Given the description of an element on the screen output the (x, y) to click on. 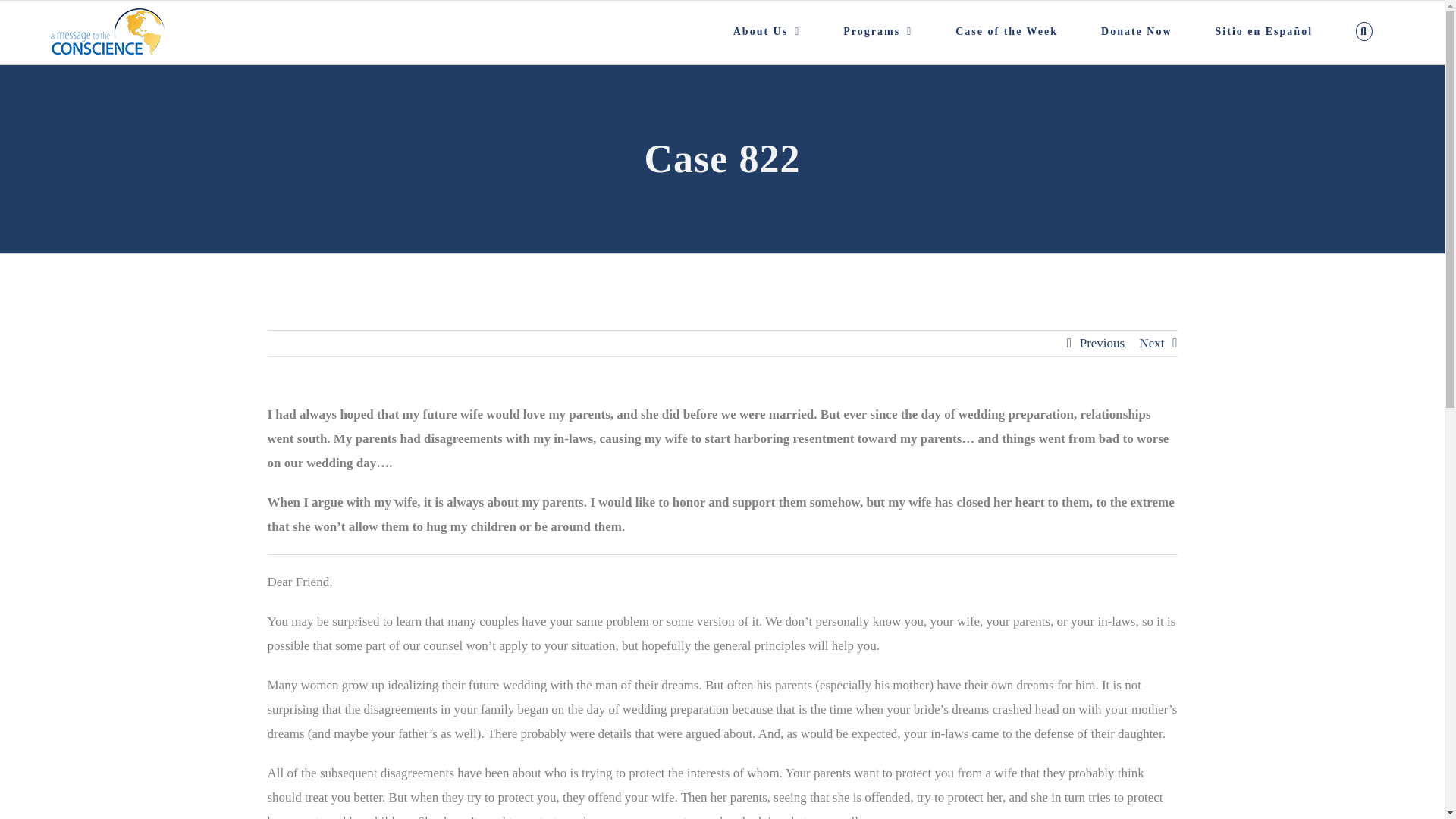
Donate Now (1136, 31)
Search (1364, 31)
Programs (878, 31)
About Us (766, 31)
Case of the Week (1007, 31)
